Given the description of an element on the screen output the (x, y) to click on. 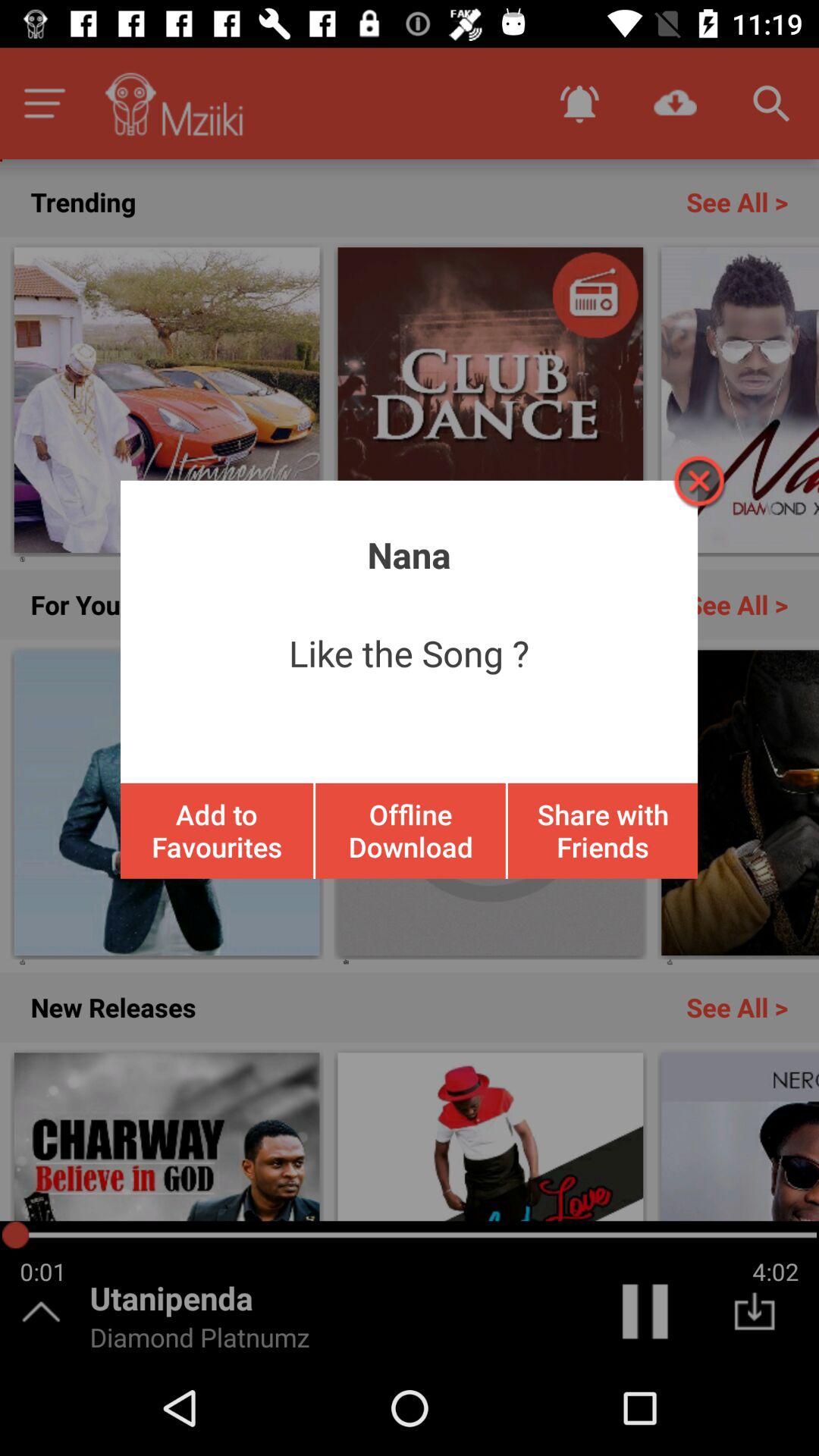
swipe until offline download icon (410, 830)
